Given the description of an element on the screen output the (x, y) to click on. 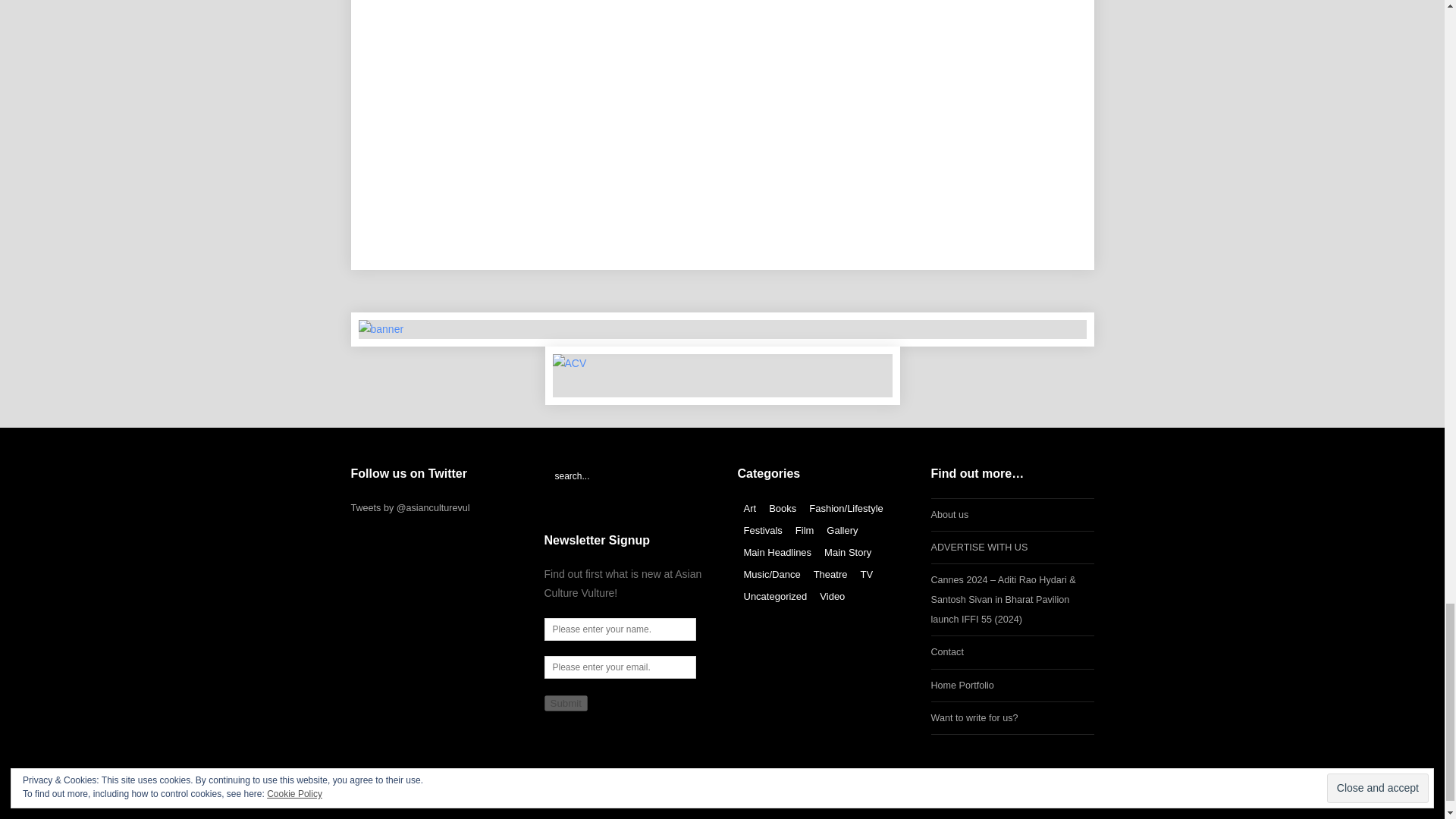
search... (625, 476)
search... (625, 476)
Submit (566, 703)
